Given the description of an element on the screen output the (x, y) to click on. 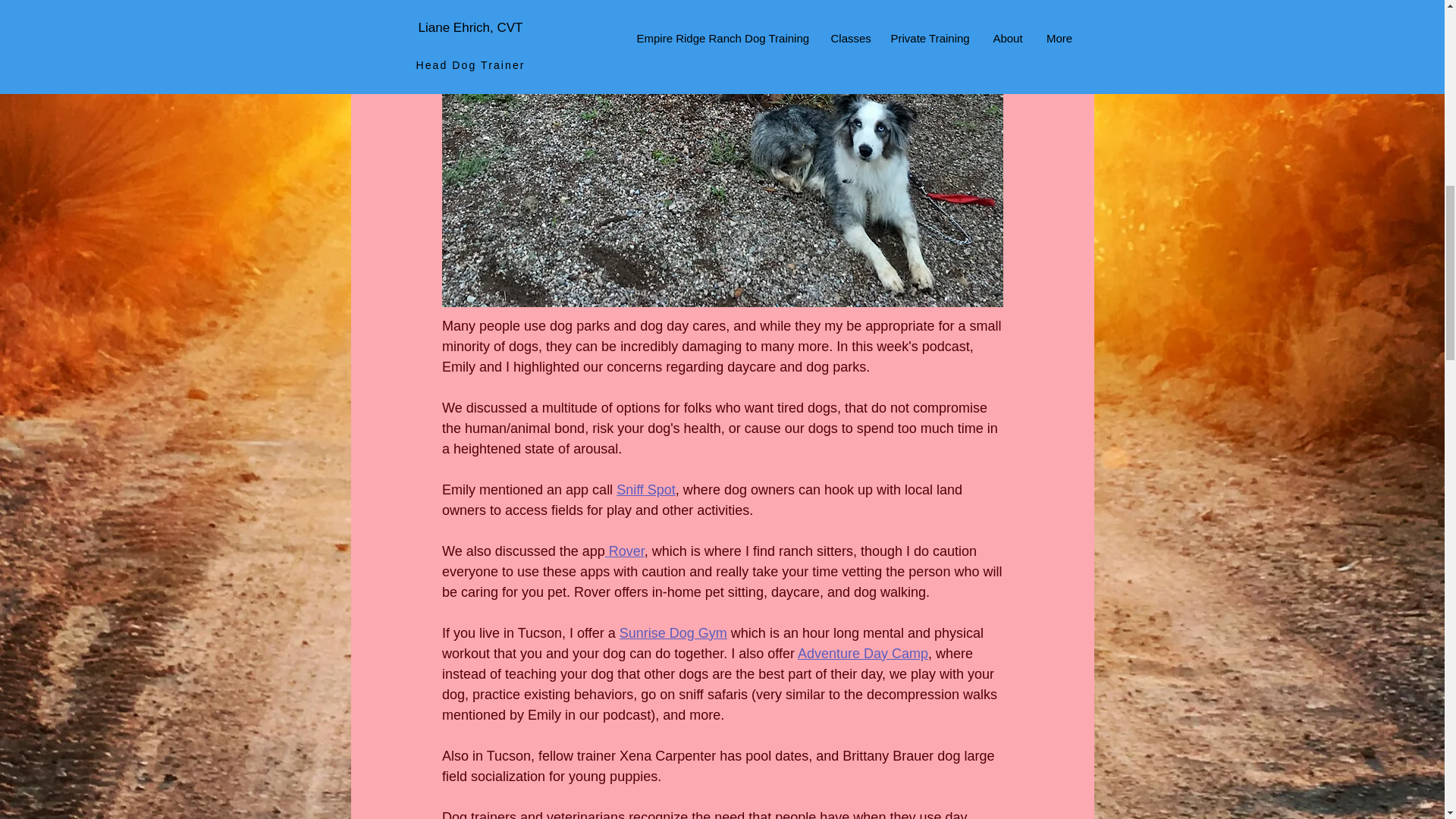
Adventure Day Camp (861, 653)
Sniff Spot (645, 489)
Sunrise Dog Gym (672, 632)
 Rover (623, 550)
